Given the description of an element on the screen output the (x, y) to click on. 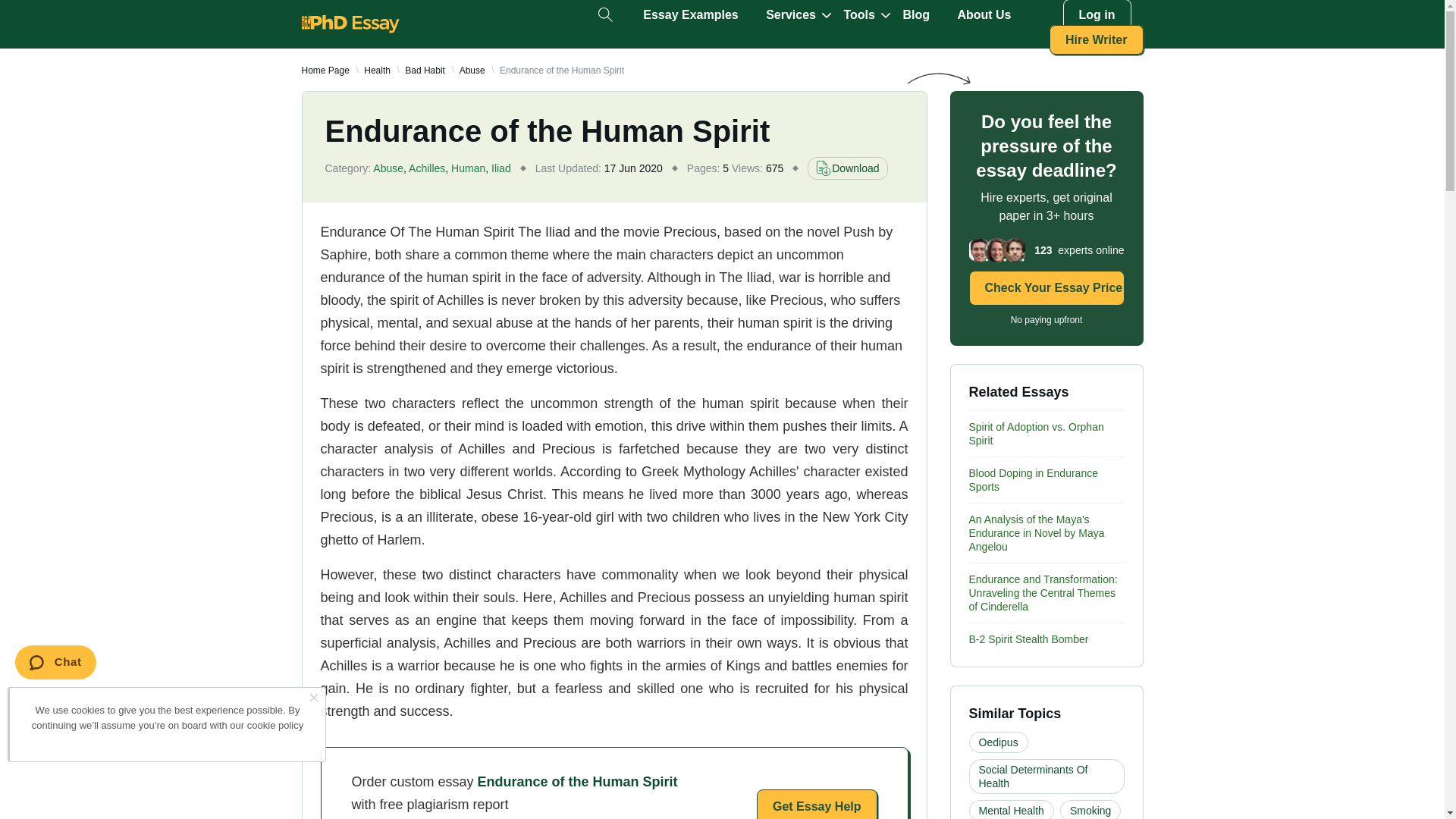
Hire Writer (1095, 39)
About Us (983, 15)
Blog (916, 15)
Abuse (472, 70)
Download (847, 168)
Health (377, 70)
Log in (1096, 15)
Home Page (325, 70)
Essay Examples (690, 15)
Tools (859, 15)
